Given the description of an element on the screen output the (x, y) to click on. 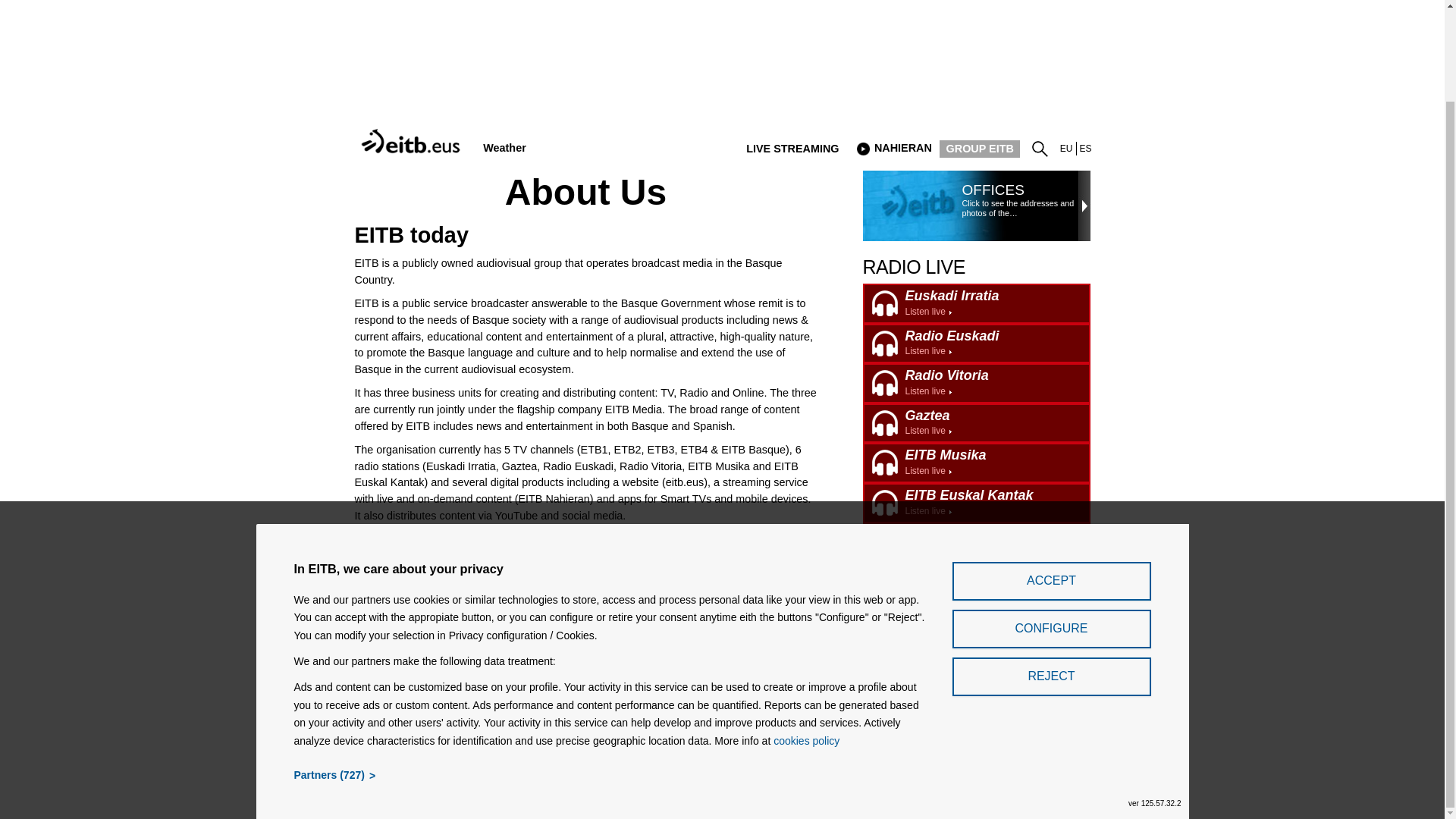
OFFICES (976, 503)
Legal disclaimer (991, 189)
Privacy Policy (609, 732)
Weather (541, 732)
Cookie Policy (504, 147)
Euskara (674, 732)
NAHIERAN (1066, 148)
EU (893, 148)
